Given the description of an element on the screen output the (x, y) to click on. 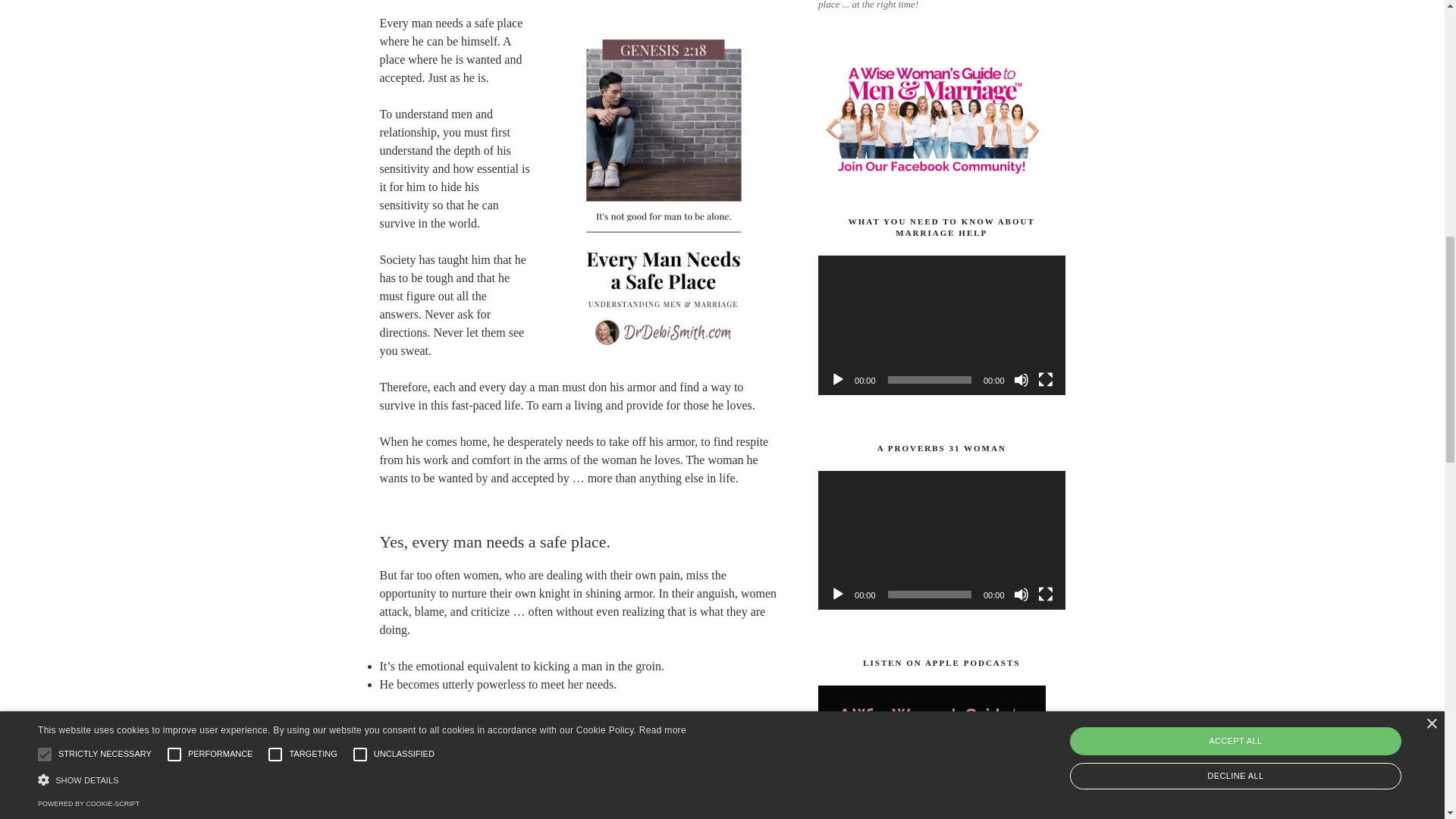
Play (837, 594)
Mute (1020, 594)
Listen on Apple Podcasts (931, 752)
Fullscreen (1044, 594)
Mute (1020, 379)
Fullscreen (1044, 379)
Play (837, 379)
